Given the description of an element on the screen output the (x, y) to click on. 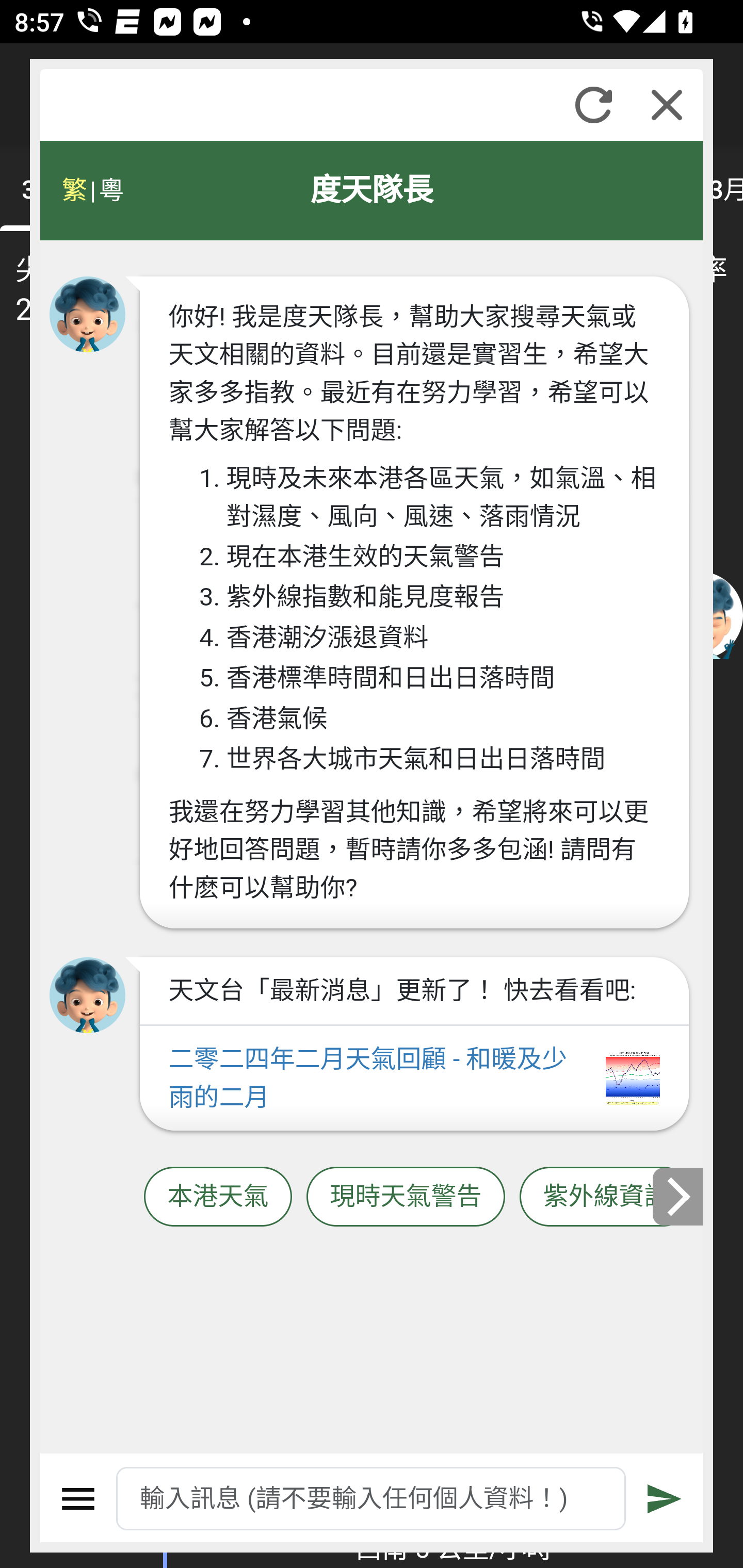
重新整理 (593, 104)
關閉 (666, 104)
繁 (73, 190)
粵 (110, 190)
二零二四年二月天氣回顧 - 和暖及少雨的二月 (413, 1078)
本港天氣 (217, 1196)
現時天氣警告 (405, 1196)
紫外線資訊 (605, 1196)
下一張 (678, 1196)
選單 (78, 1498)
遞交 (665, 1498)
